Given the description of an element on the screen output the (x, y) to click on. 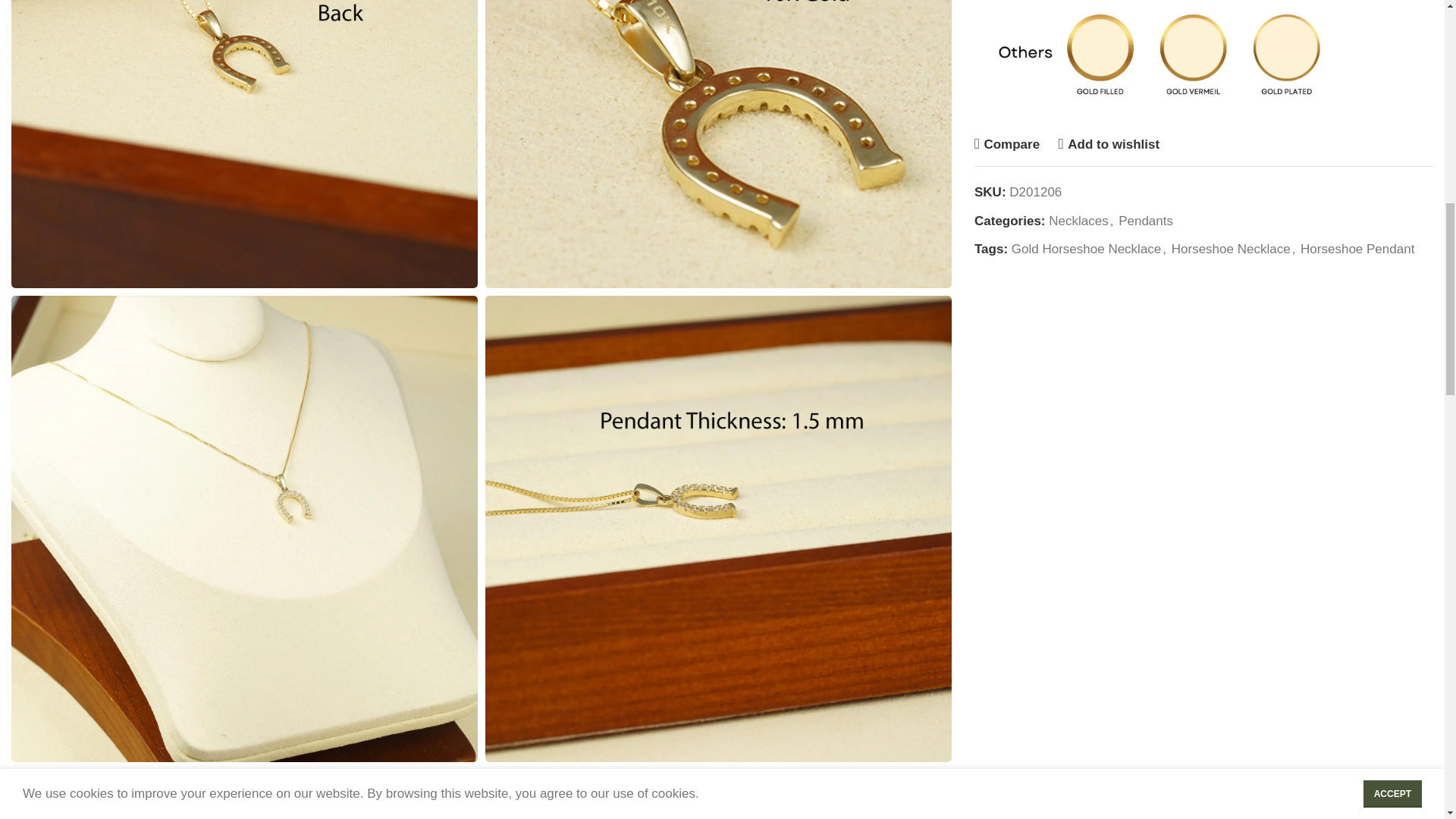
Add to wishlist (1108, 144)
Compare (1006, 144)
Horseshoe Necklace 11x10mm 10K Gold 8 (244, 794)
Necklaces (1078, 220)
